Given the description of an element on the screen output the (x, y) to click on. 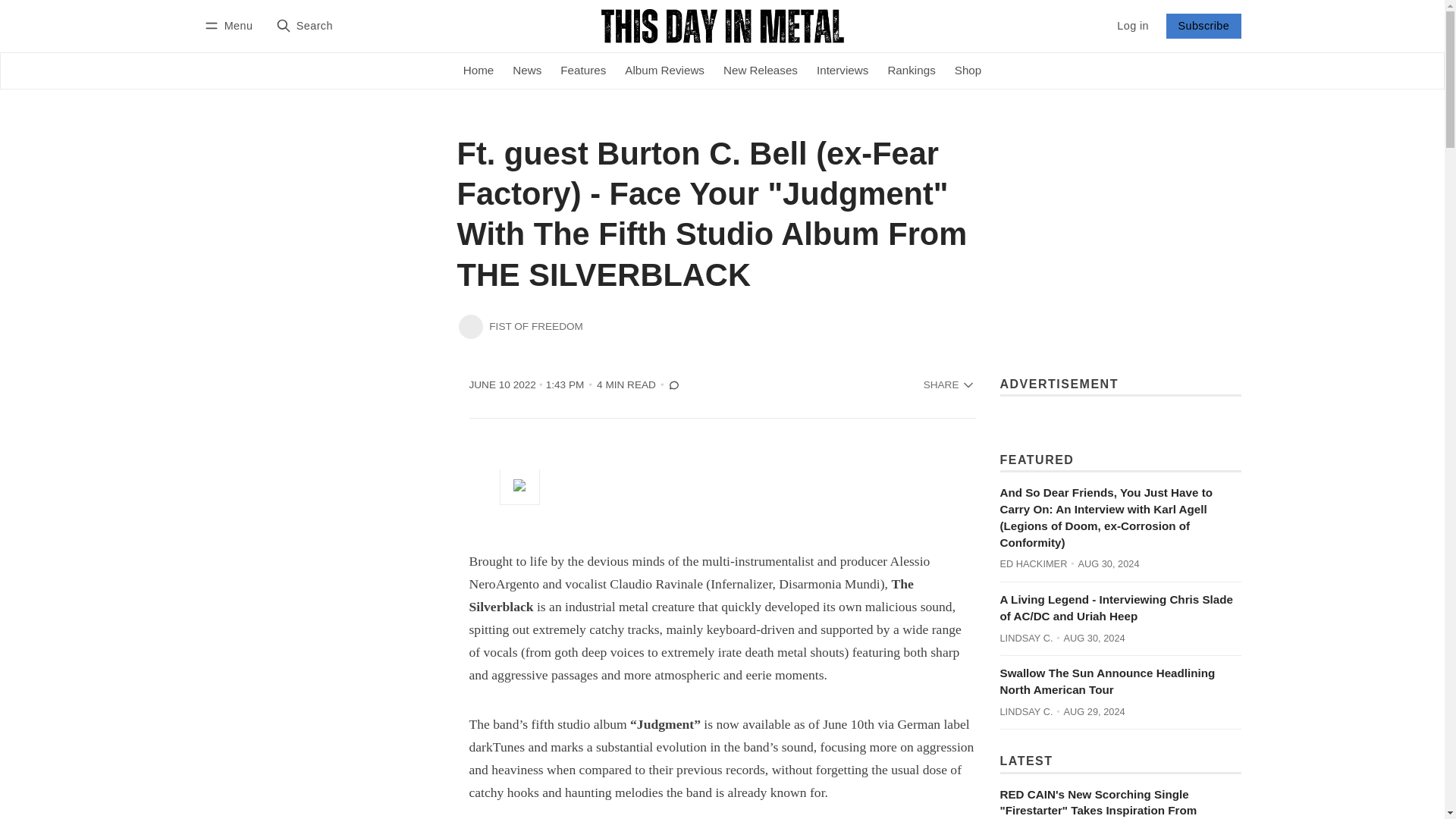
Menu (230, 25)
Menu (230, 25)
Fist Of Freedom (470, 326)
Interviews (842, 71)
News (527, 71)
New Releases (759, 71)
Subscribe (1203, 26)
Album Reviews (665, 71)
Home (478, 71)
Rankings (911, 71)
